Given the description of an element on the screen output the (x, y) to click on. 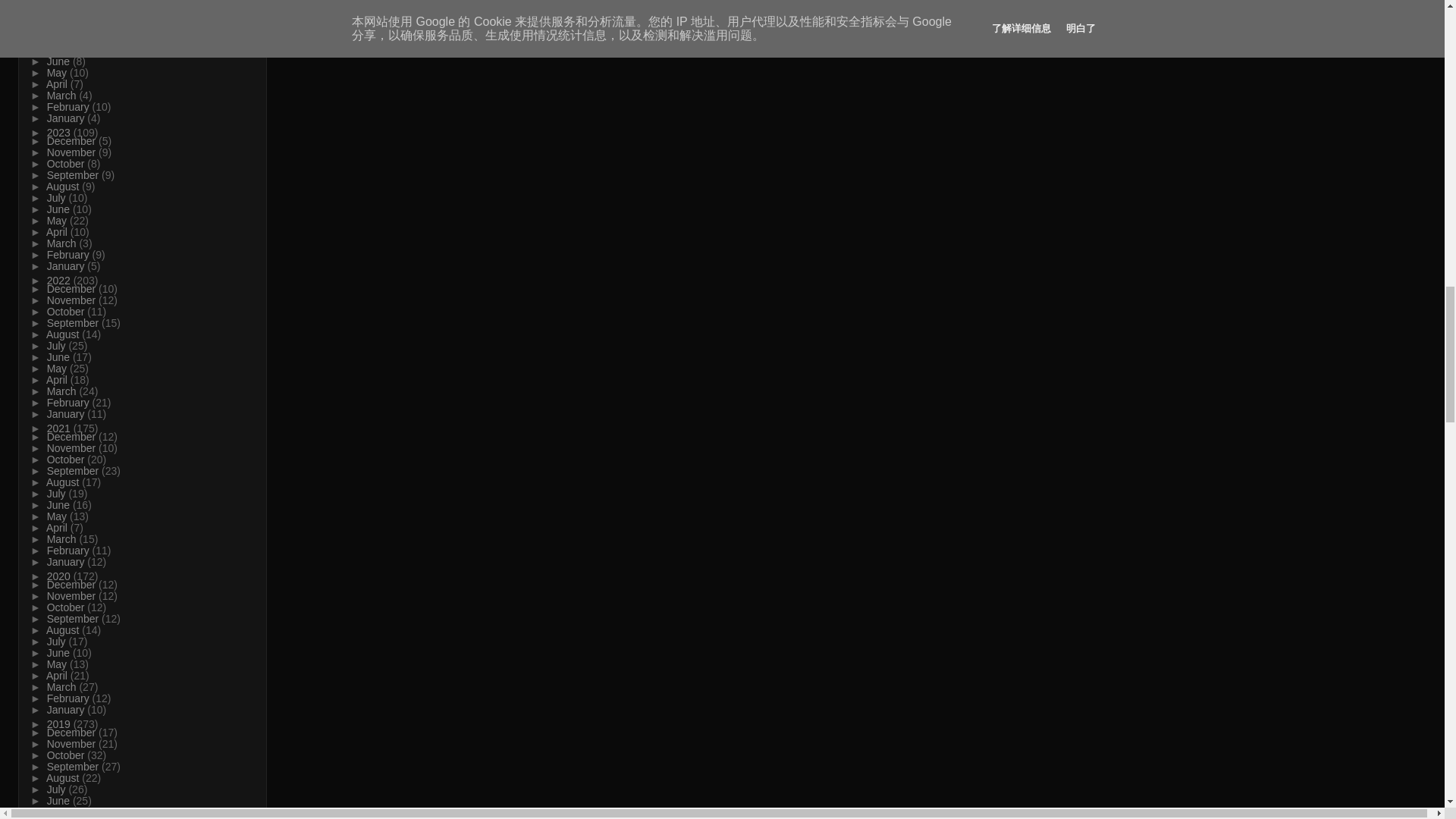
March (63, 95)
June (59, 61)
February (69, 106)
May (57, 72)
2024 (60, 41)
July (57, 50)
April (57, 83)
